Given the description of an element on the screen output the (x, y) to click on. 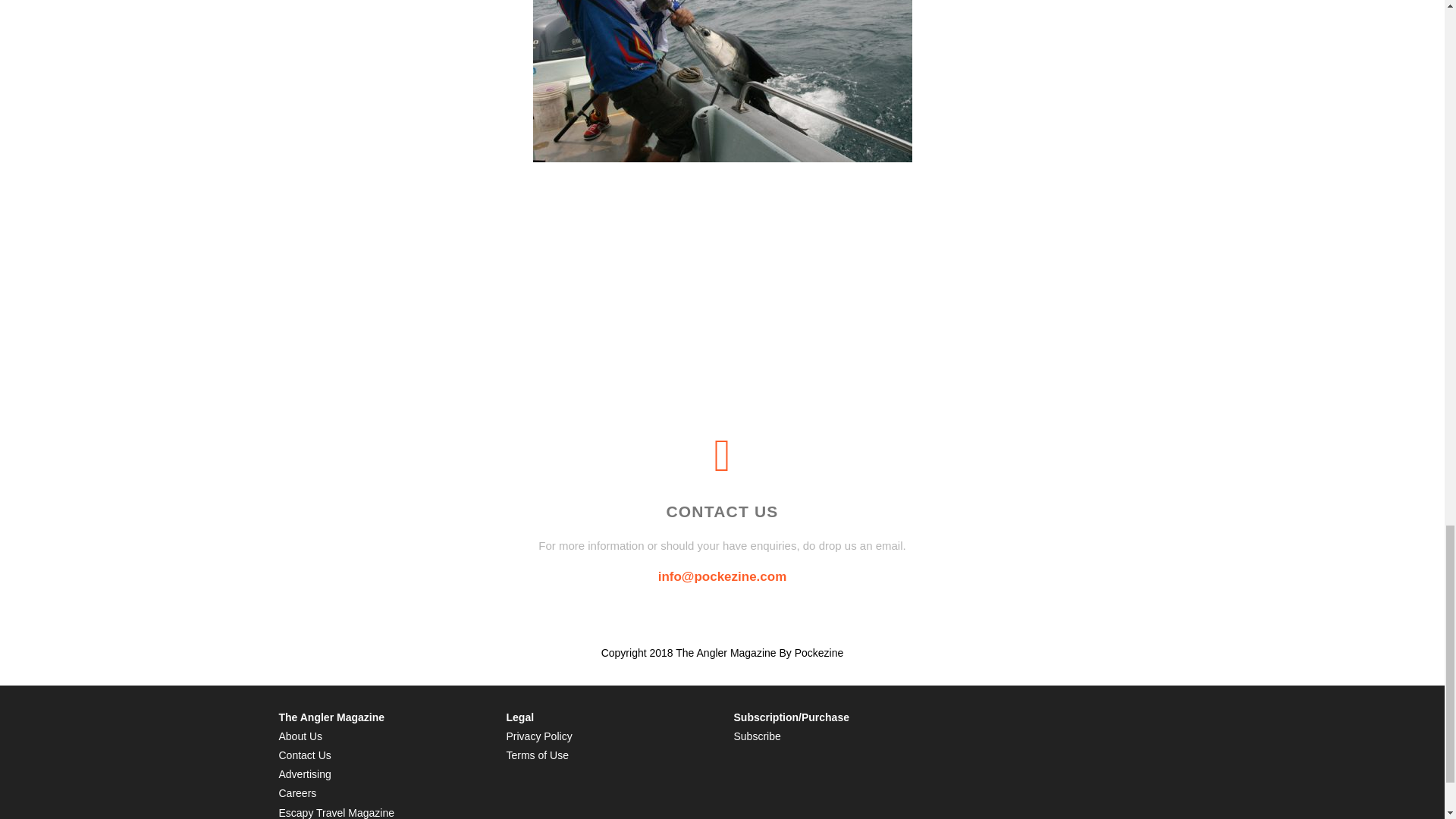
Advertising (305, 774)
CONTACT US (721, 511)
fishfight (721, 81)
Terms of Use (537, 755)
Escapy Travel Magazine (336, 812)
About Us (301, 736)
The Angler Magazine (332, 717)
Privacy Policy (539, 736)
Contact Us (305, 755)
Careers (298, 793)
